Given the description of an element on the screen output the (x, y) to click on. 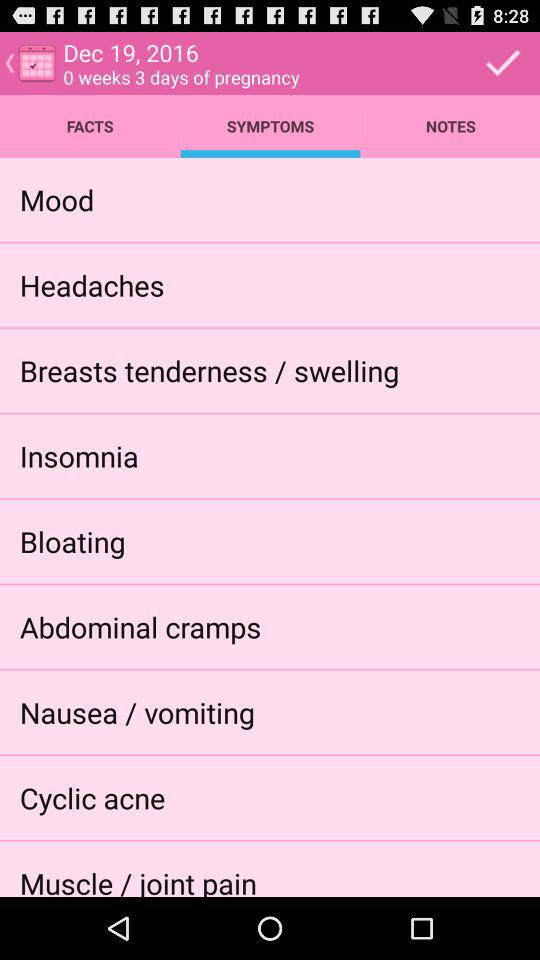
launch app above breasts tenderness / swelling icon (91, 284)
